Given the description of an element on the screen output the (x, y) to click on. 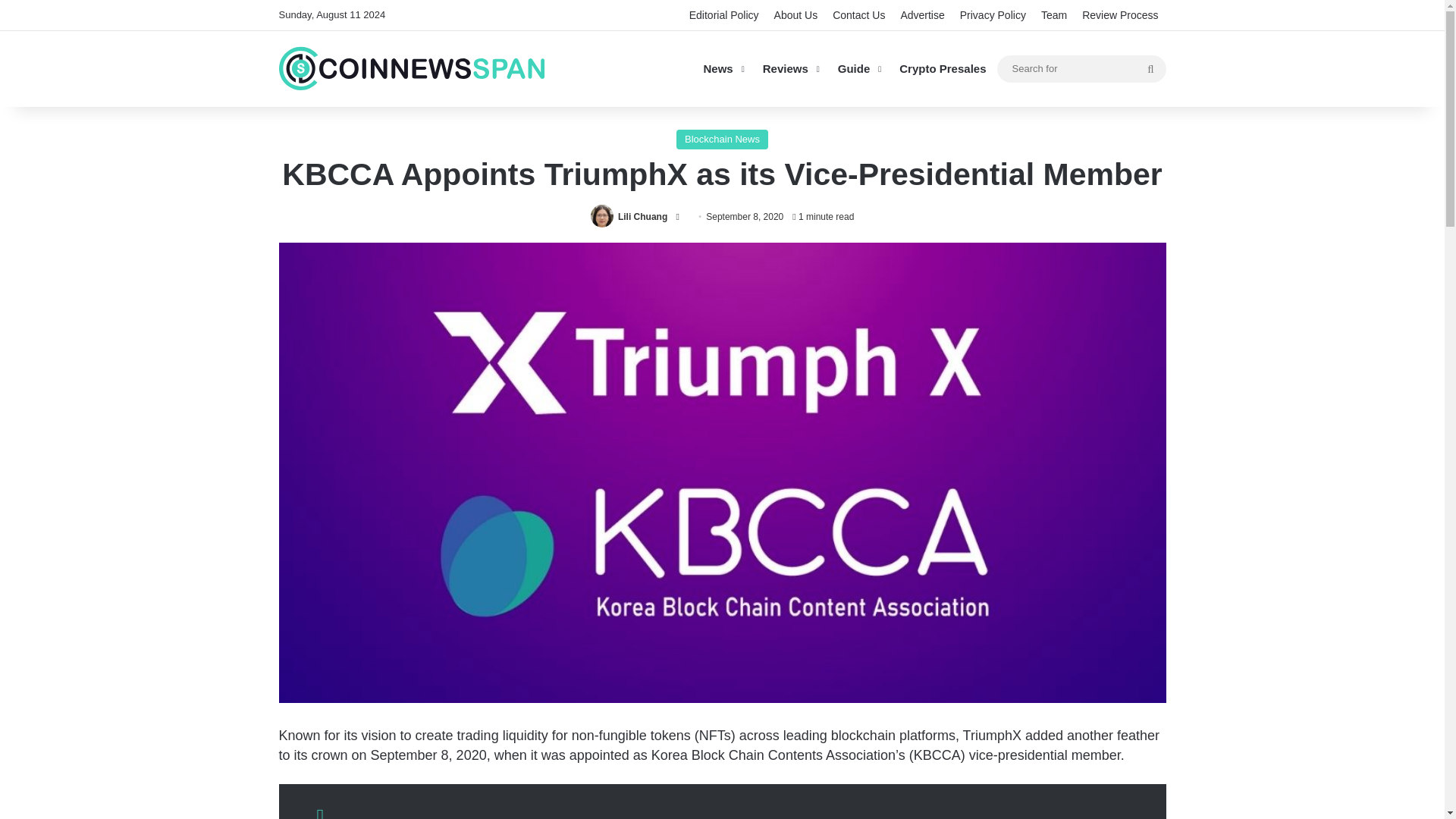
Team (1053, 15)
Lili Chuang (641, 216)
Advertise (922, 15)
Review Process (1120, 15)
Privacy Policy (992, 15)
CoinNewsSpan (411, 68)
Contact Us (858, 15)
Editorial Policy (724, 15)
About Us (796, 15)
Search for (1080, 67)
